Given the description of an element on the screen output the (x, y) to click on. 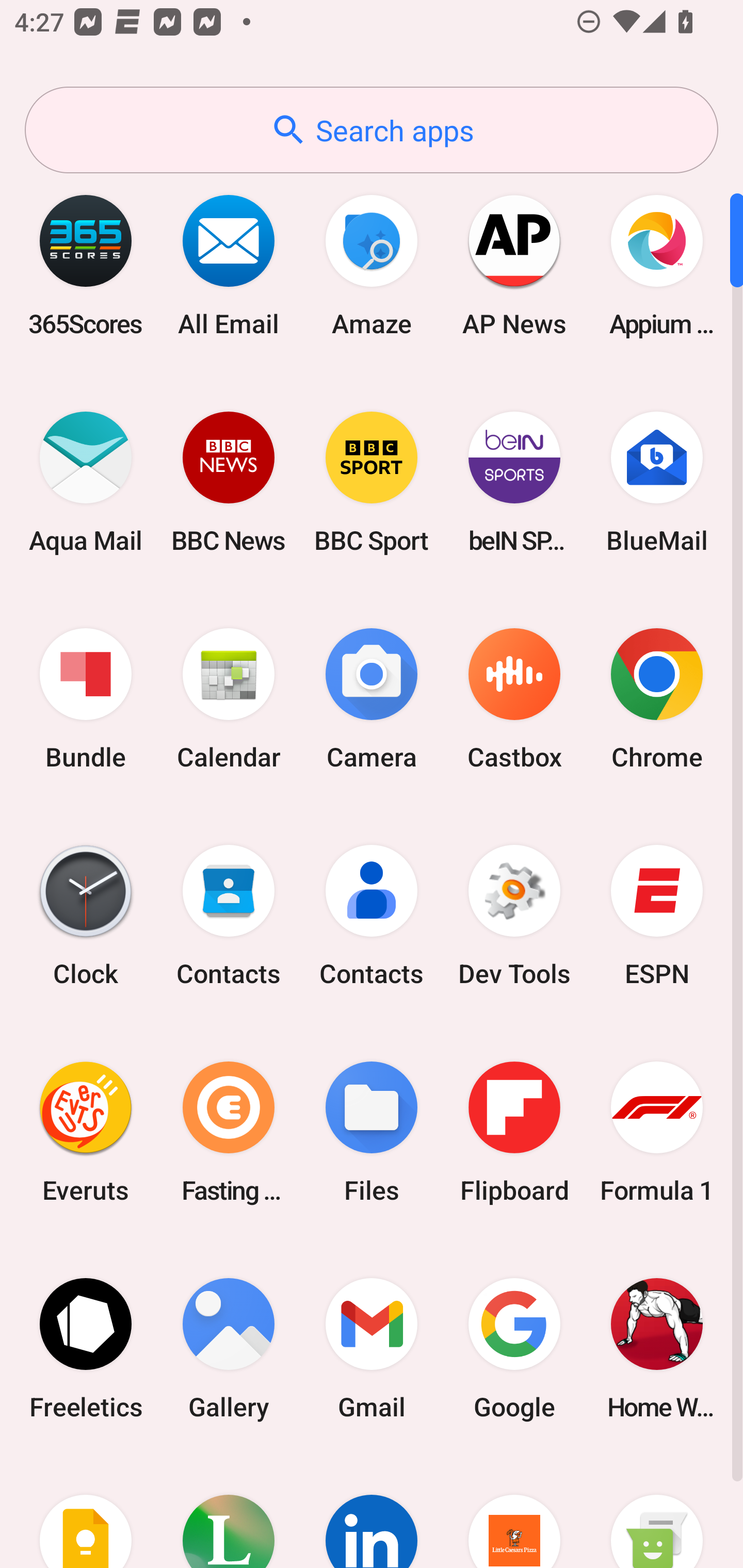
  Search apps (371, 130)
365Scores (85, 264)
All Email (228, 264)
Amaze (371, 264)
AP News (514, 264)
Appium Settings (656, 264)
Aqua Mail (85, 482)
BBC News (228, 482)
BBC Sport (371, 482)
beIN SPORTS (514, 482)
BlueMail (656, 482)
Bundle (85, 699)
Calendar (228, 699)
Camera (371, 699)
Castbox (514, 699)
Chrome (656, 699)
Clock (85, 915)
Contacts (228, 915)
Contacts (371, 915)
Dev Tools (514, 915)
ESPN (656, 915)
Everuts (85, 1131)
Fasting Coach (228, 1131)
Files (371, 1131)
Flipboard (514, 1131)
Formula 1 (656, 1131)
Freeletics (85, 1348)
Gallery (228, 1348)
Gmail (371, 1348)
Google (514, 1348)
Home Workout (656, 1348)
Keep Notes (85, 1512)
Lifesum (228, 1512)
LinkedIn (371, 1512)
Little Caesars Pizza (514, 1512)
Messaging (656, 1512)
